Given the description of an element on the screen output the (x, y) to click on. 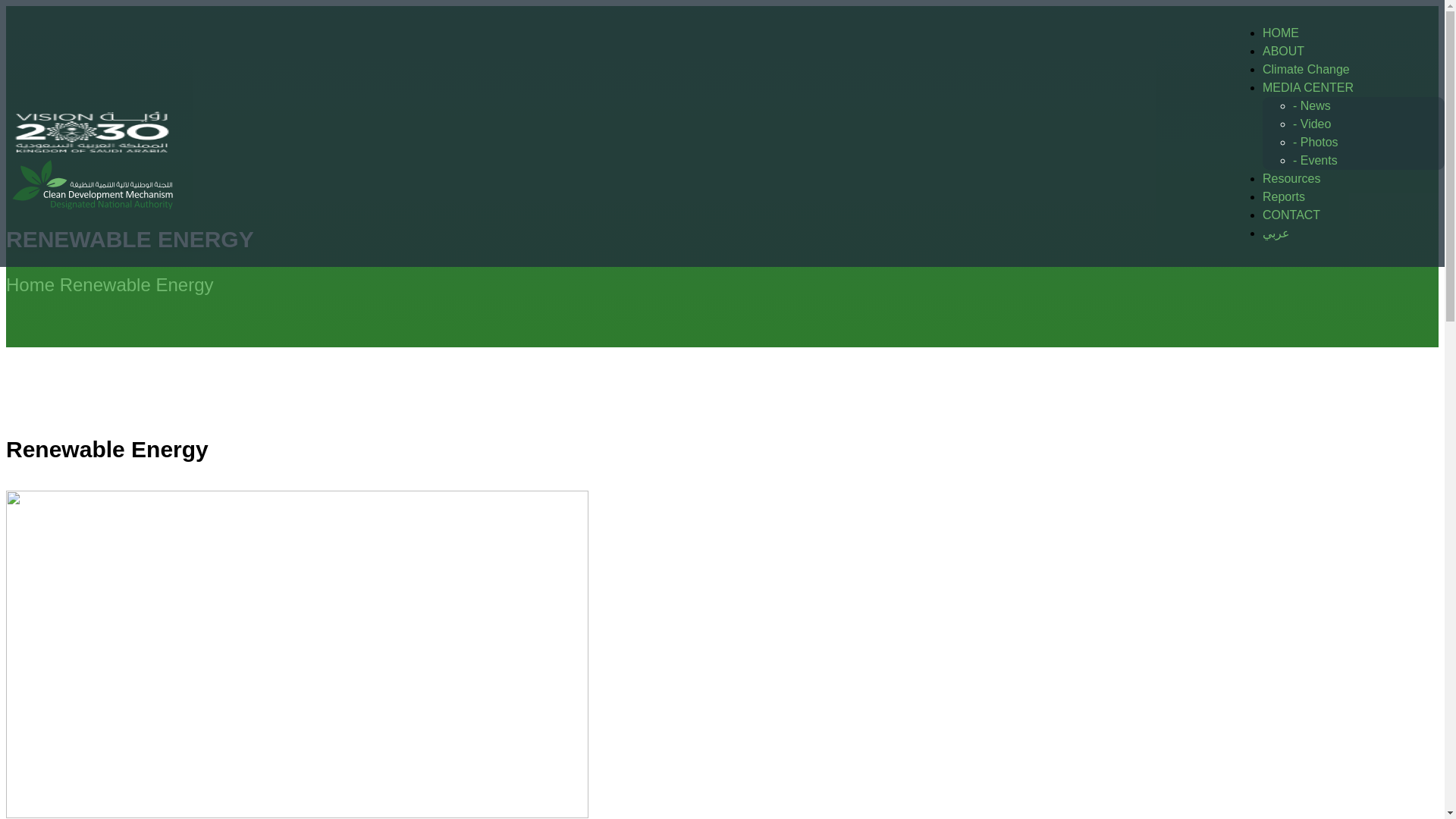
cdmdna.com.sa (92, 232)
HOME (1280, 32)
ABOUT (1283, 51)
cdmdna.com.sa (92, 150)
Climate Change (1305, 69)
